Given the description of an element on the screen output the (x, y) to click on. 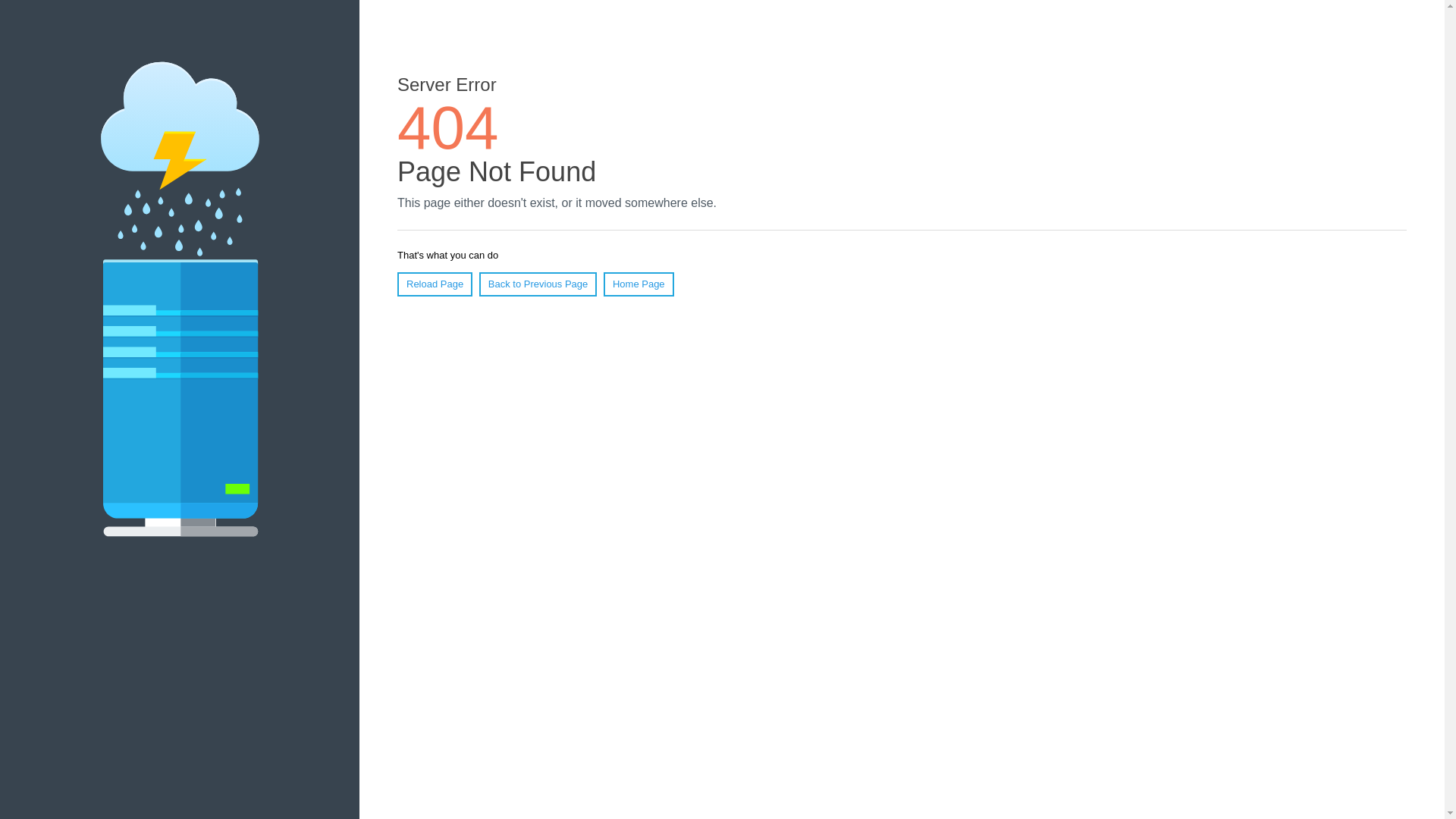
Back to Previous Page Element type: text (538, 284)
Home Page Element type: text (638, 284)
Reload Page Element type: text (434, 284)
